Given the description of an element on the screen output the (x, y) to click on. 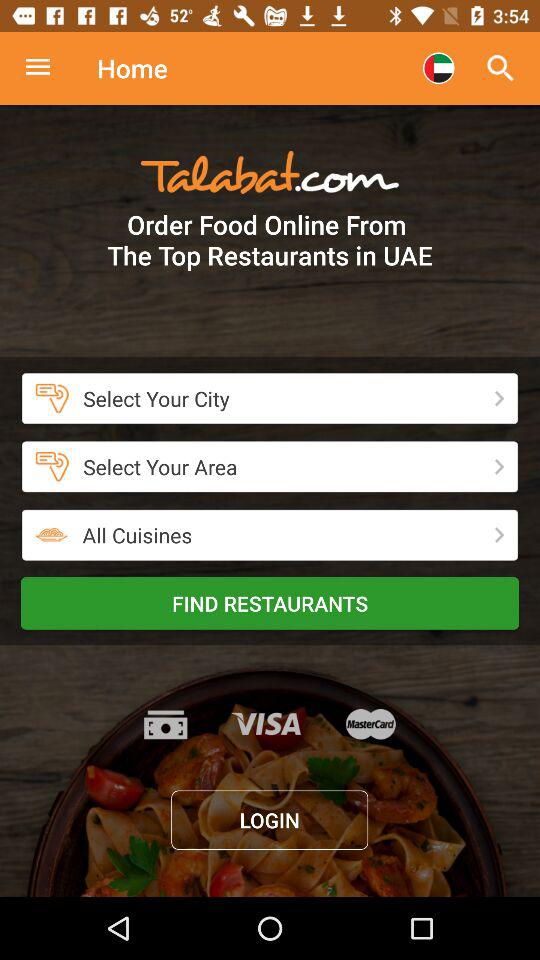
toggle country option (438, 68)
